Given the description of an element on the screen output the (x, y) to click on. 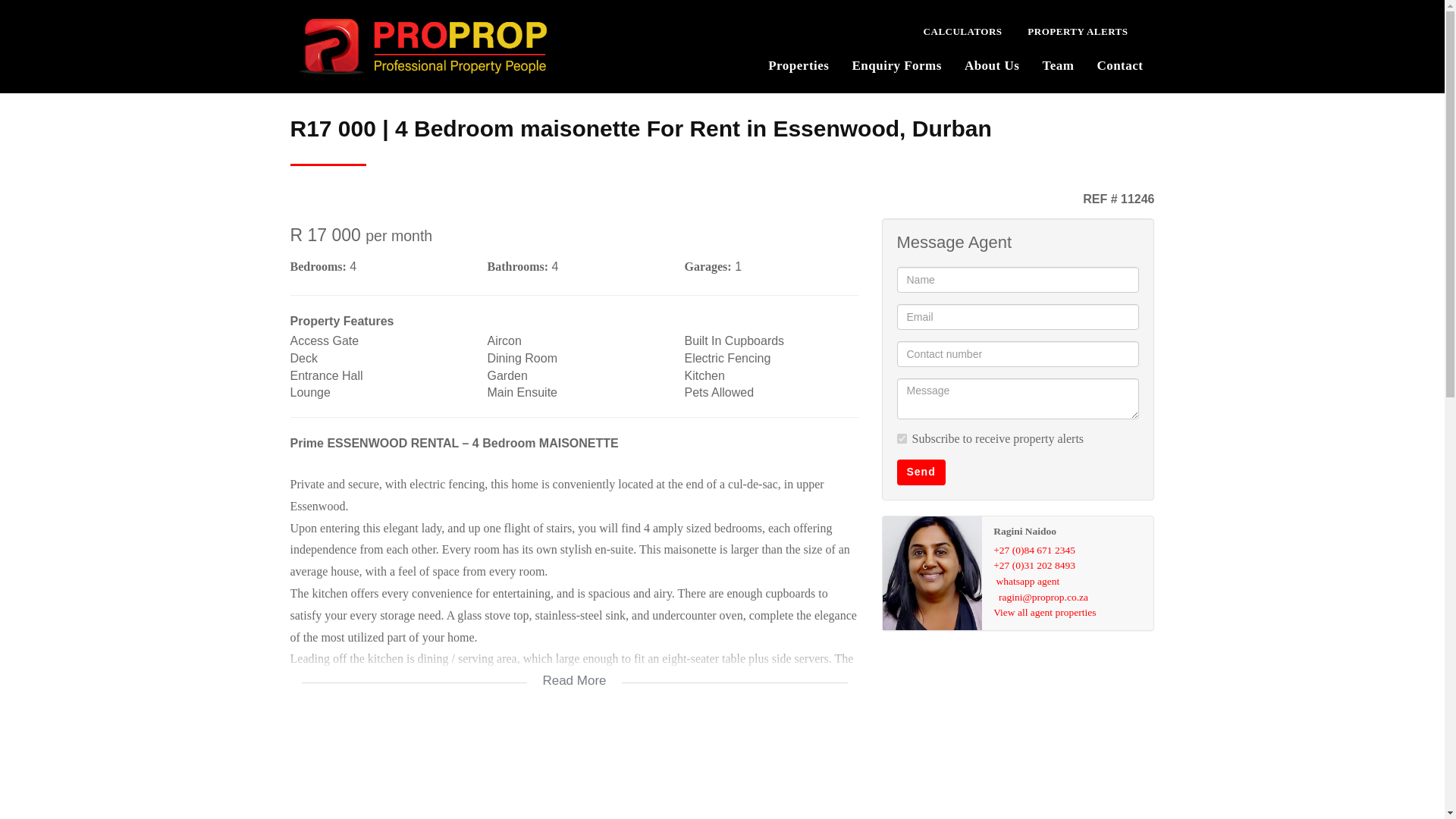
CALCULATORS (962, 28)
 PROPERTY ALERTS (1076, 28)
Team (1057, 63)
on (900, 438)
About Us (991, 63)
Read More (574, 671)
google map (574, 769)
Contact (1119, 63)
Enquiry Forms (896, 63)
Proprop, Estate Agency Logo (421, 46)
Properties (798, 63)
